Given the description of an element on the screen output the (x, y) to click on. 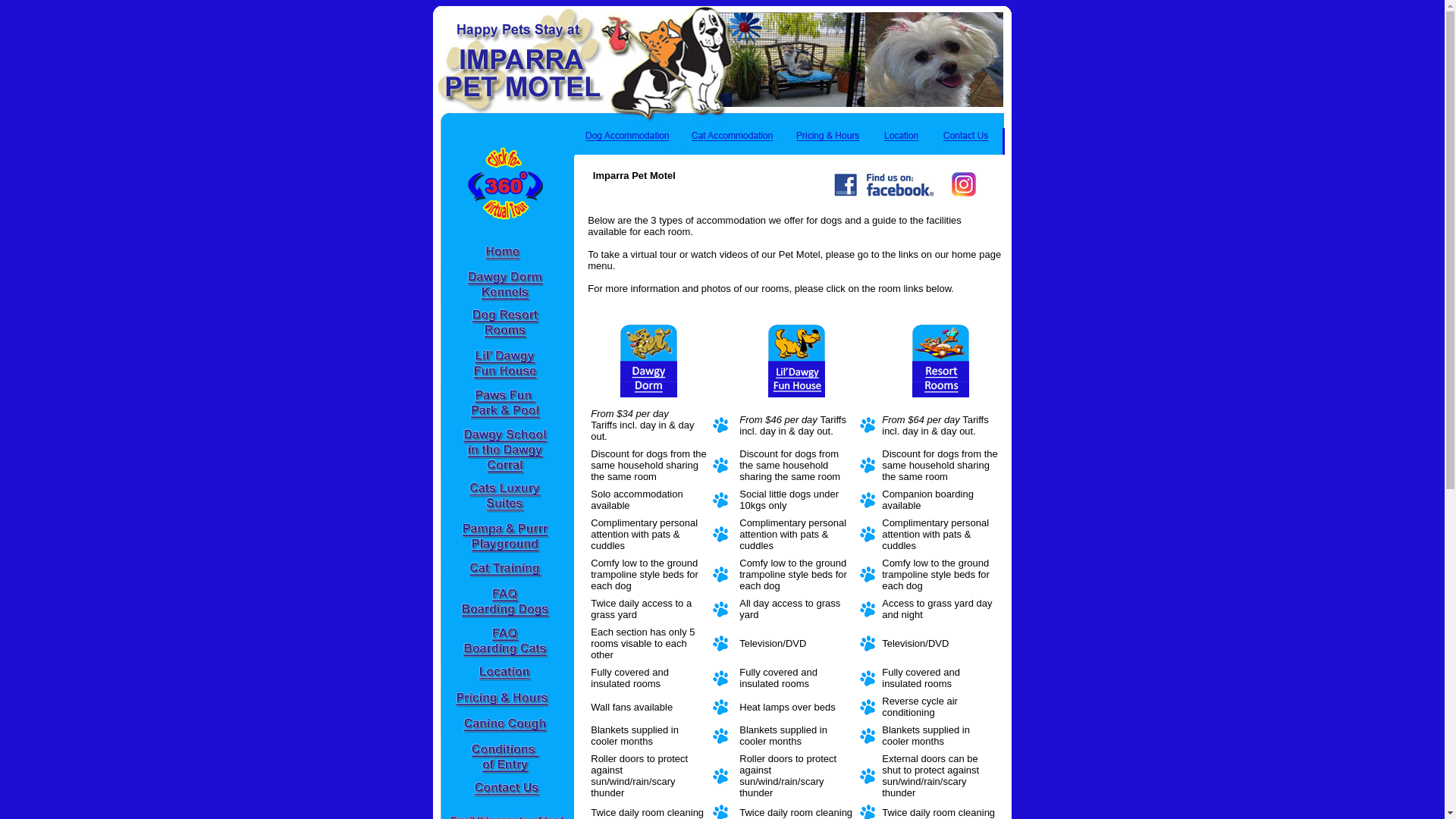
Find us now!! Element type: hover (883, 182)
Click to view Dog Accommodation Element type: hover (940, 360)
Click to view Dog Accommodation Element type: hover (648, 360)
Click for our Insta Element type: hover (963, 182)
Click to view Dog Accommodation Element type: hover (796, 360)
